Given the description of an element on the screen output the (x, y) to click on. 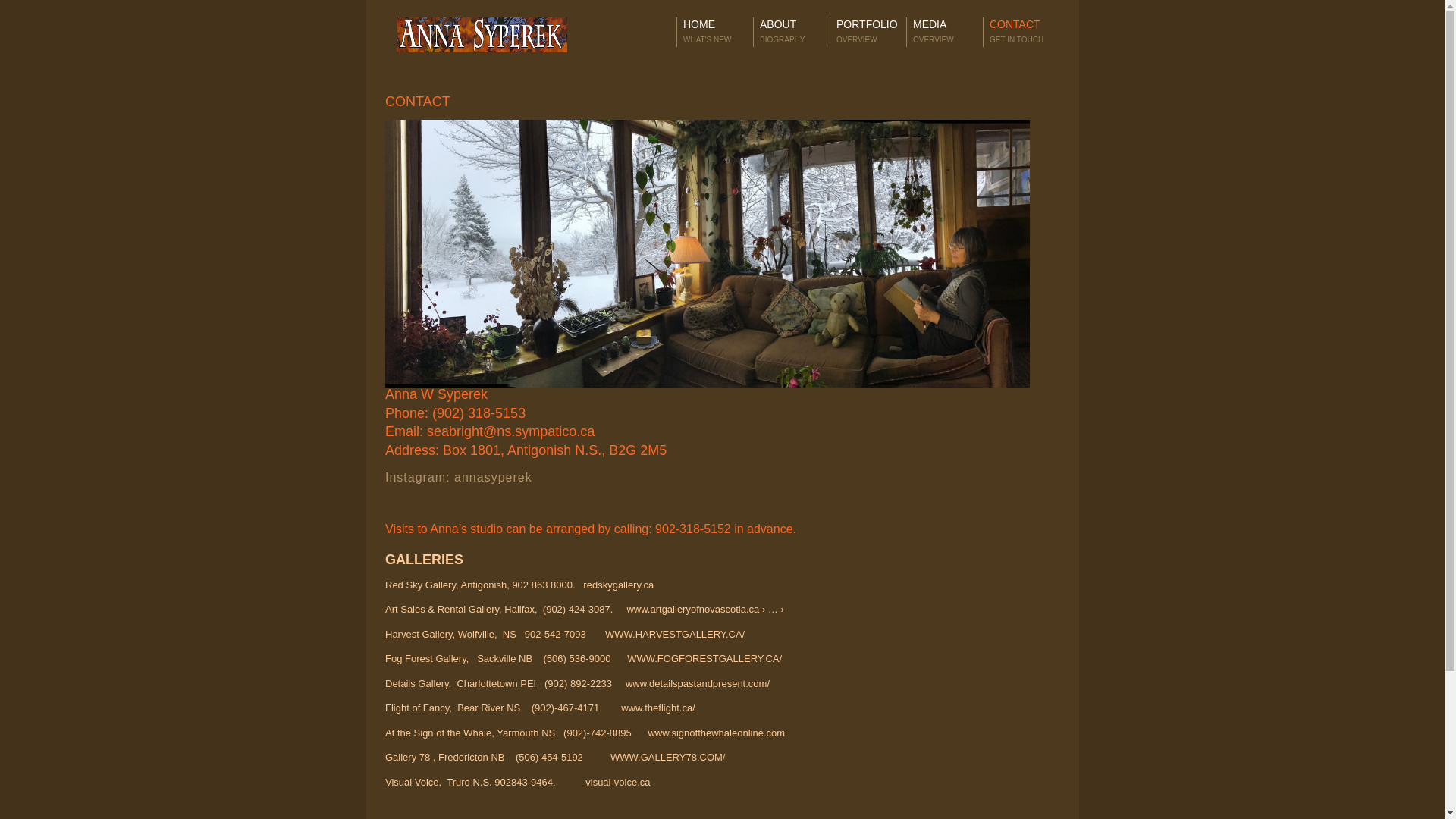
HOME
WHAT'S NEW Element type: text (714, 32)
ABOUT
BIOGRAPHY Element type: text (791, 32)
.COM/ Element type: text (710, 756)
GALLERY78 Element type: text (668, 756)
.CA/ Element type: text (771, 658)
WWW.HARVESTGALLERY.CA/ Element type: text (674, 634)
WWW. Element type: text (625, 756)
MEDIA
OVERVIEW Element type: text (944, 32)
PORTFOLIO
OVERVIEW Element type: text (868, 32)
WWW. Element type: text (642, 658)
CONTACT
GET IN TOUCH Element type: text (1021, 32)
FOGFORESTGALLERY Element type: text (709, 658)
